Given the description of an element on the screen output the (x, y) to click on. 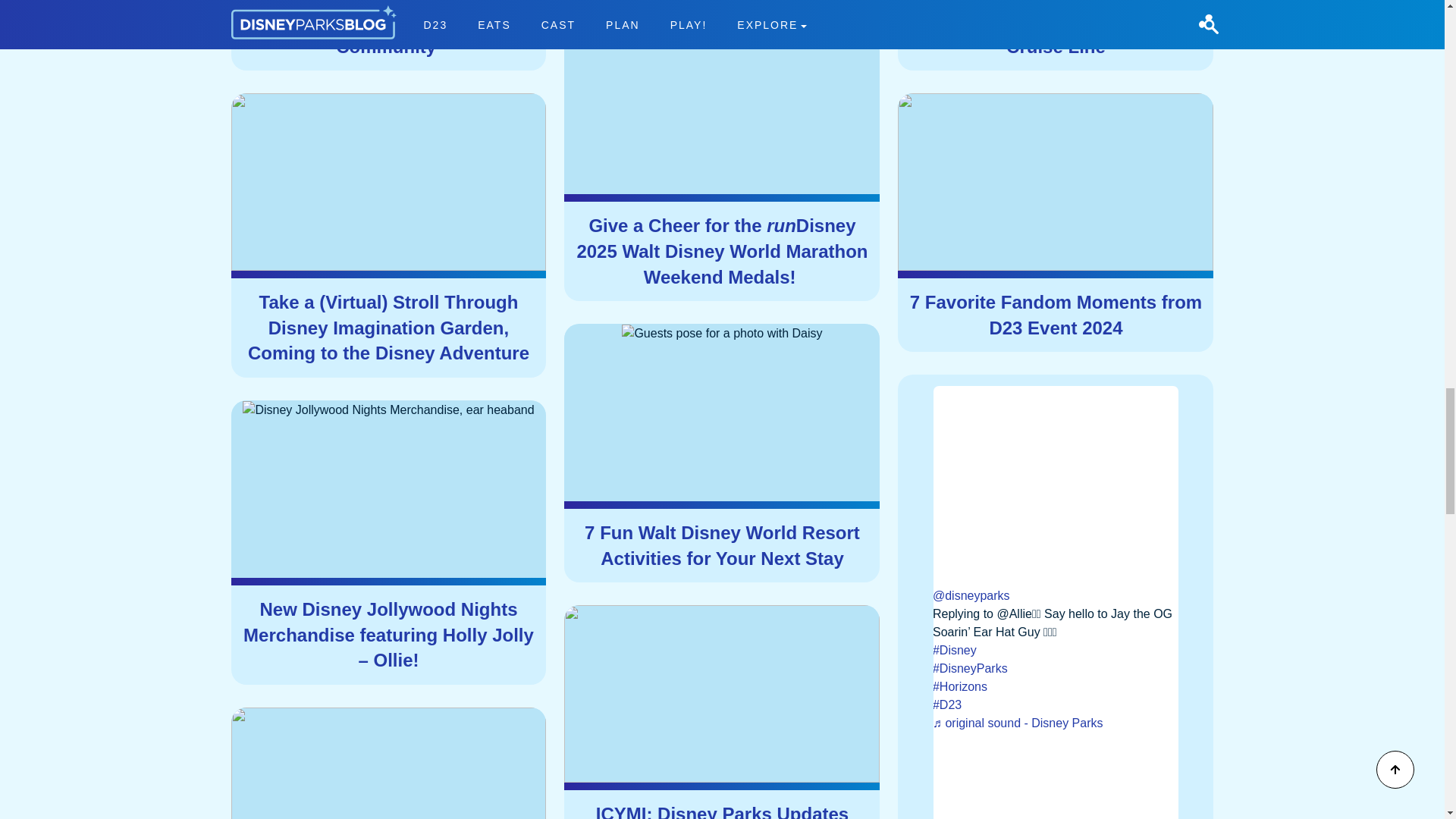
d23 (1056, 705)
disneyparks (1056, 669)
horizons (1056, 687)
disney (1056, 650)
